Given the description of an element on the screen output the (x, y) to click on. 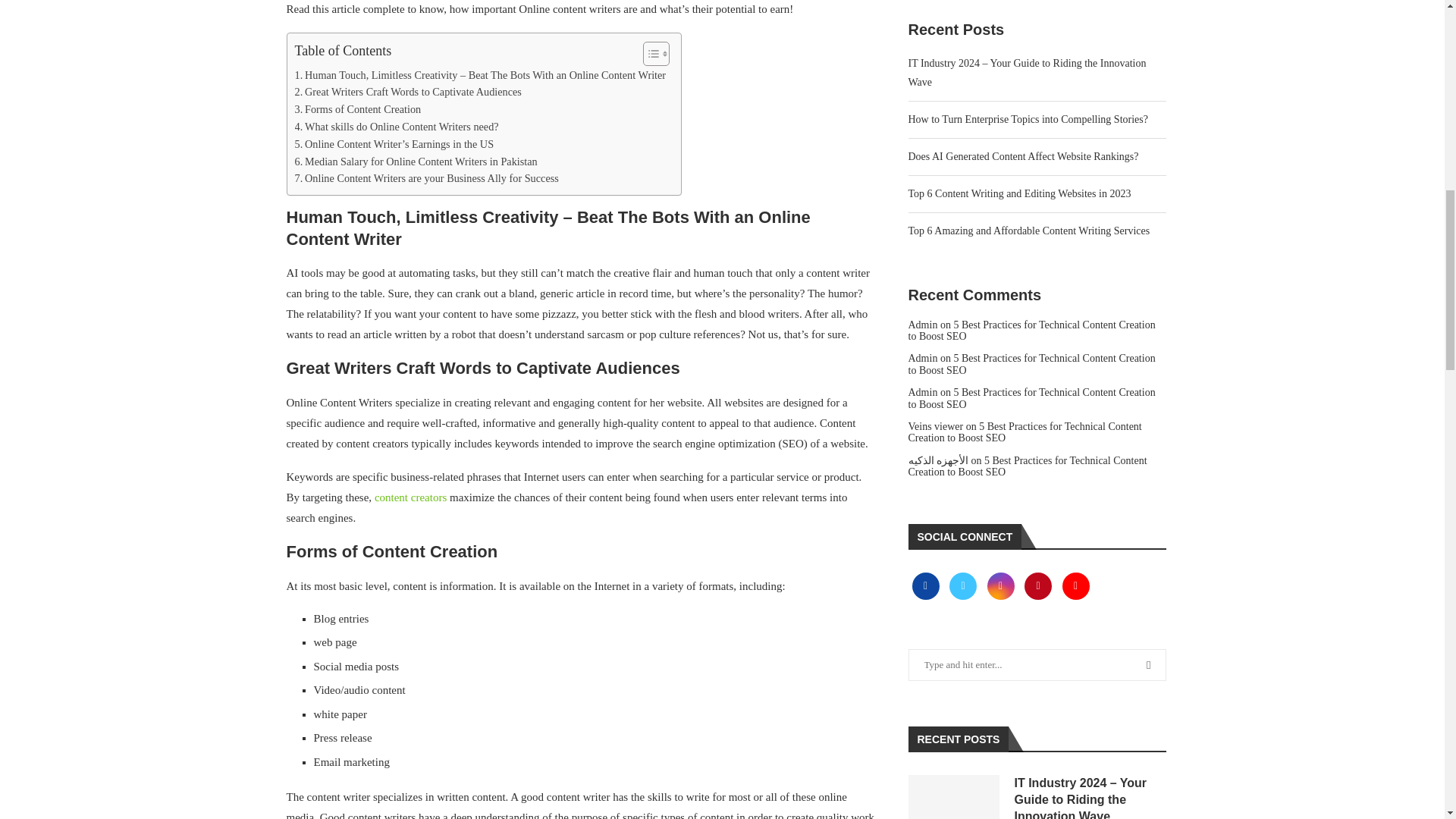
Online Content Writers are your Business Ally for Success (425, 178)
Great Writers Craft Words to Captivate Audiences (407, 91)
What skills do Online Content Writers need? (395, 126)
content creators (410, 497)
Median Salary for Online Content Writers in Pakistan (415, 161)
Forms of Content Creation (357, 108)
Median Salary for Online Content Writers in Pakistan (415, 161)
Forms of Content Creation (357, 108)
Great Writers Craft Words to Captivate Audiences (407, 91)
What skills do Online Content Writers need? (395, 126)
